Given the description of an element on the screen output the (x, y) to click on. 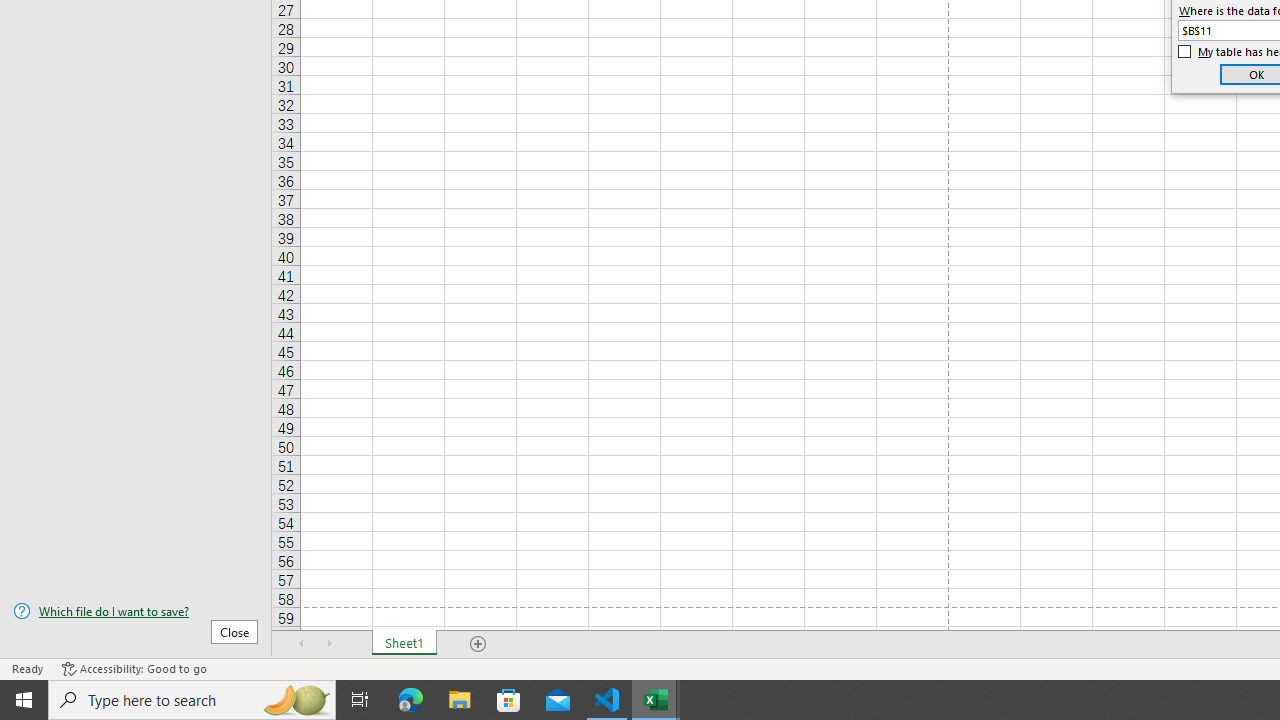
Which file do I want to save? (136, 611)
Add Sheet (478, 644)
Accessibility Checker Accessibility: Good to go (134, 668)
Close (234, 631)
Sheet1 (404, 644)
Scroll Left (302, 644)
Scroll Right (330, 644)
